Given the description of an element on the screen output the (x, y) to click on. 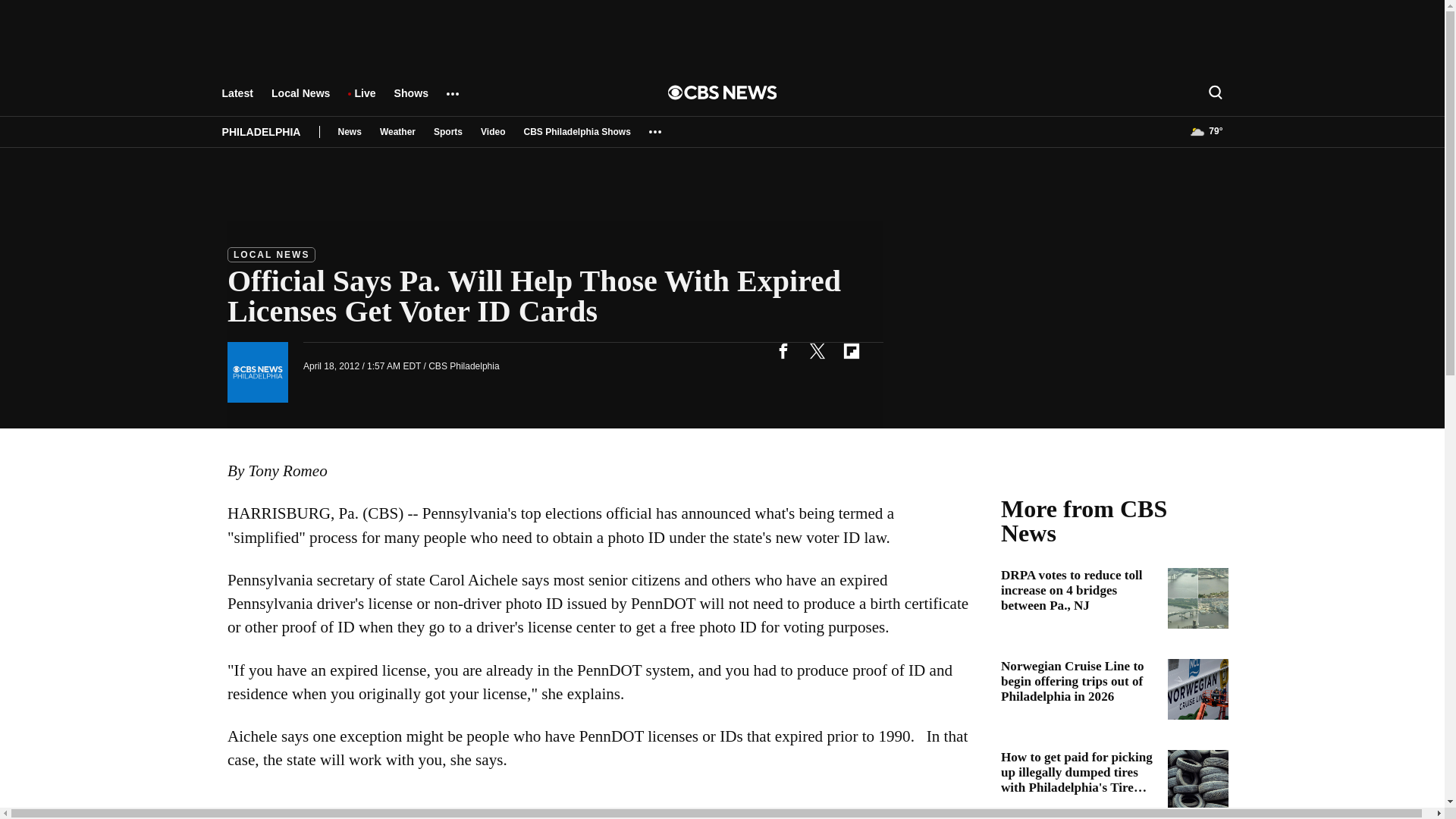
facebook (782, 350)
flipboard (850, 350)
Live (364, 100)
Latest (236, 100)
twitter (816, 350)
Local News (300, 100)
